Given the description of an element on the screen output the (x, y) to click on. 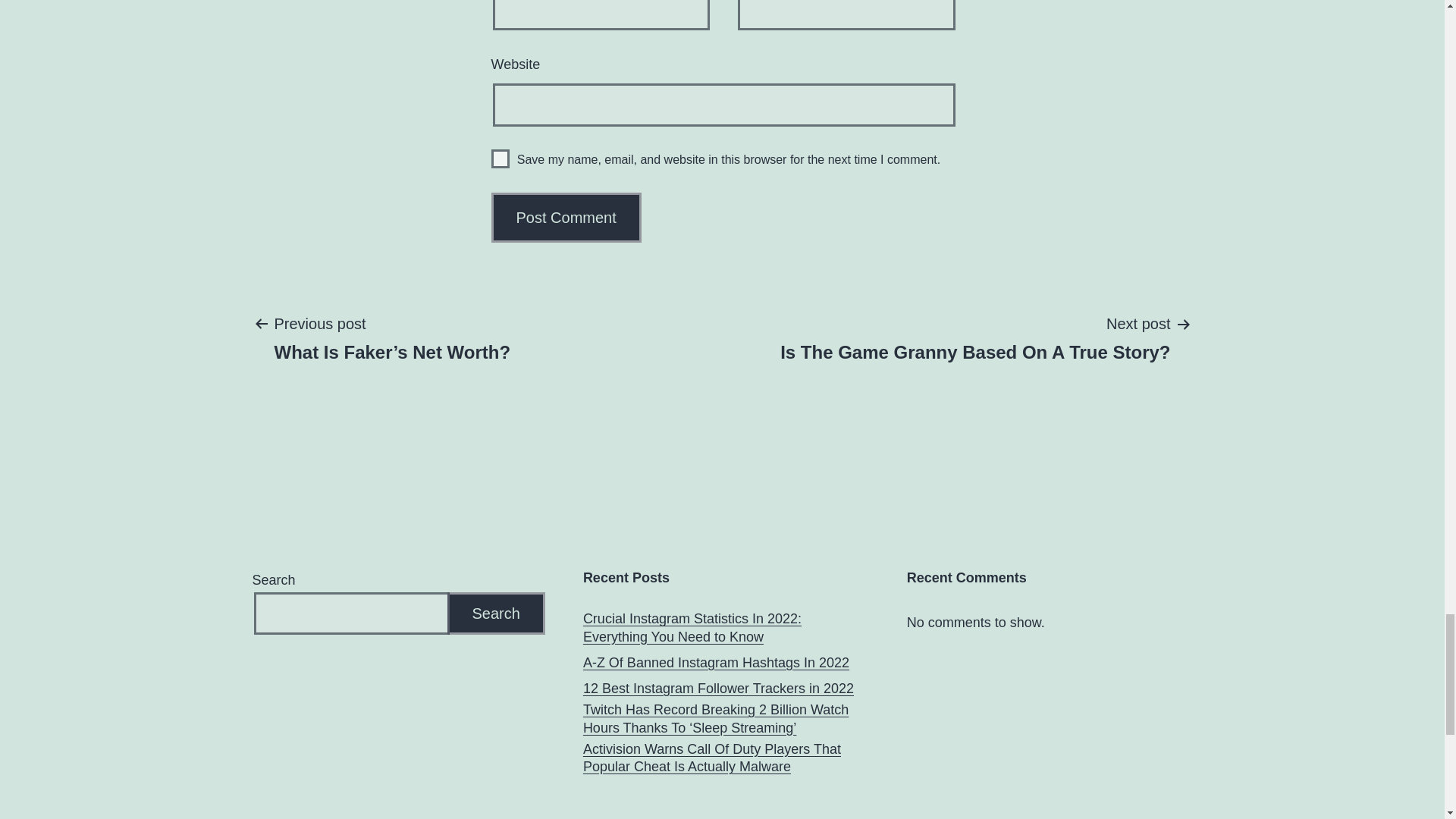
Post Comment (567, 217)
Search (495, 613)
Post Comment (567, 217)
12 Best Instagram Follower Trackers in 2022 (718, 688)
A-Z Of Banned Instagram Hashtags In 2022 (975, 337)
yes (715, 662)
